Given the description of an element on the screen output the (x, y) to click on. 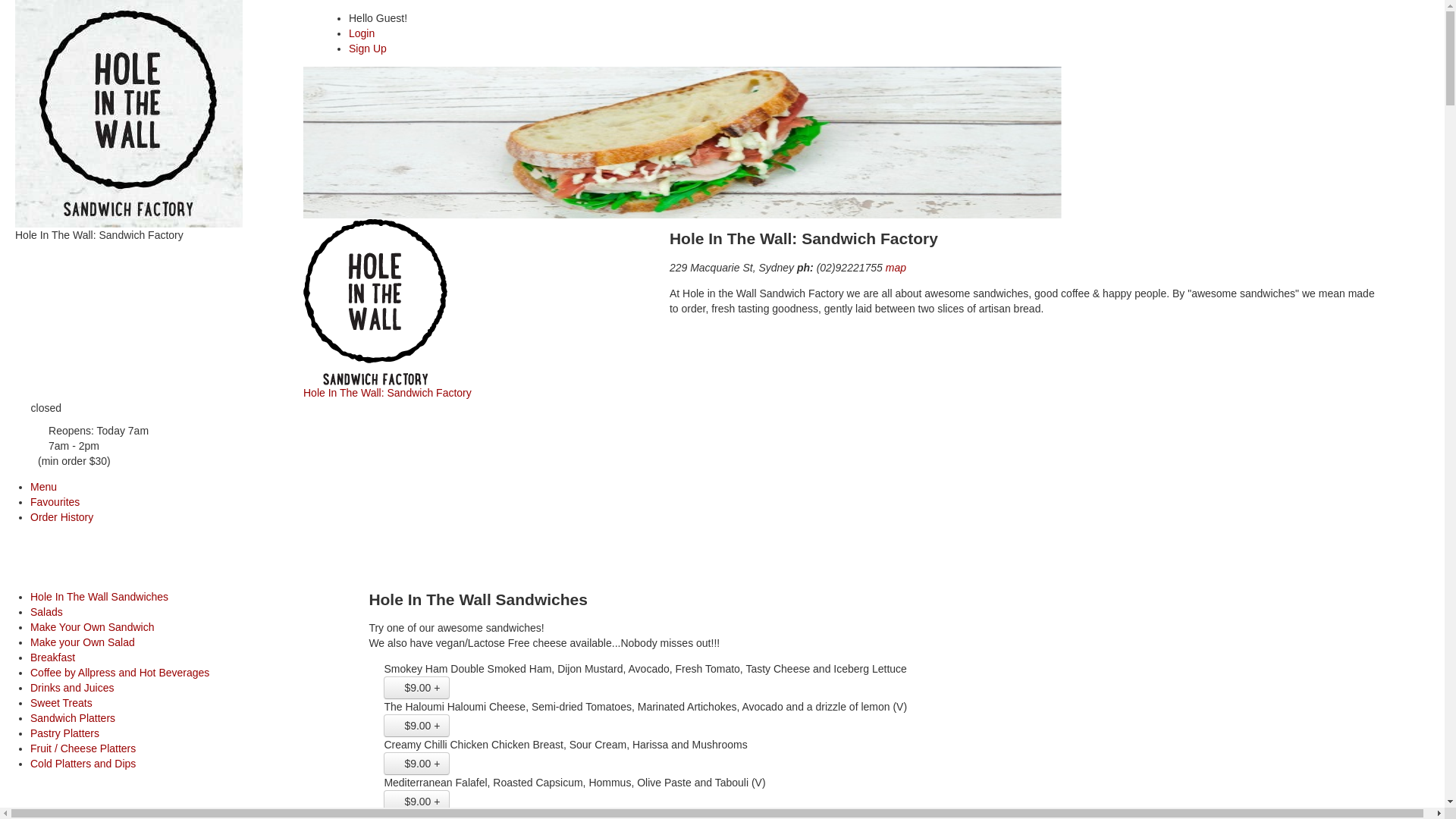
Order History Element type: text (61, 517)
Fruit / Cheese Platters Element type: text (82, 748)
Breakfast Element type: text (52, 657)
map Element type: text (890, 267)
$9.00 + Element type: text (416, 687)
Sweet Treats Element type: text (61, 702)
Favourites Element type: text (54, 501)
$9.00 + Element type: text (416, 763)
Salads Element type: text (46, 611)
Cold Platters and Dips Element type: text (82, 763)
Hole In The Wall: Sandwich Factory Element type: text (474, 308)
Sign Up Element type: text (553, 48)
Coffee by Allpress and Hot Beverages Element type: text (119, 672)
Drinks and Juices Element type: text (72, 687)
$9.00 + Element type: text (416, 725)
Make Your Own Sandwich Element type: text (91, 627)
Login Element type: text (361, 33)
Menu Element type: text (43, 486)
Sandwich Platters Element type: text (72, 718)
$9.00 + Element type: text (416, 801)
Pastry Platters Element type: text (64, 733)
Hole In The Wall Sandwiches Element type: text (99, 596)
Make your Own Salad Element type: text (82, 642)
